Given the description of an element on the screen output the (x, y) to click on. 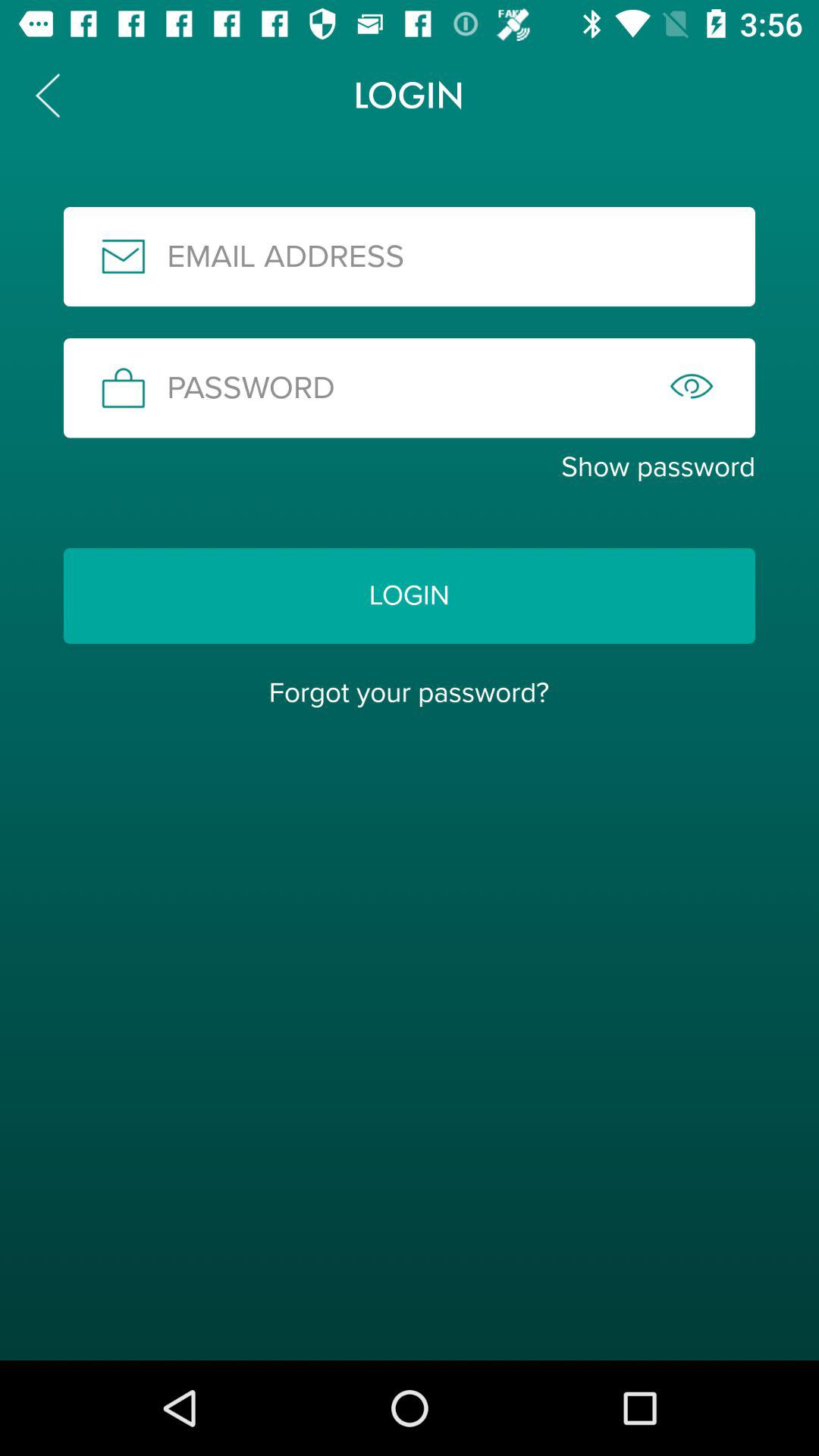
go back (47, 95)
